Given the description of an element on the screen output the (x, y) to click on. 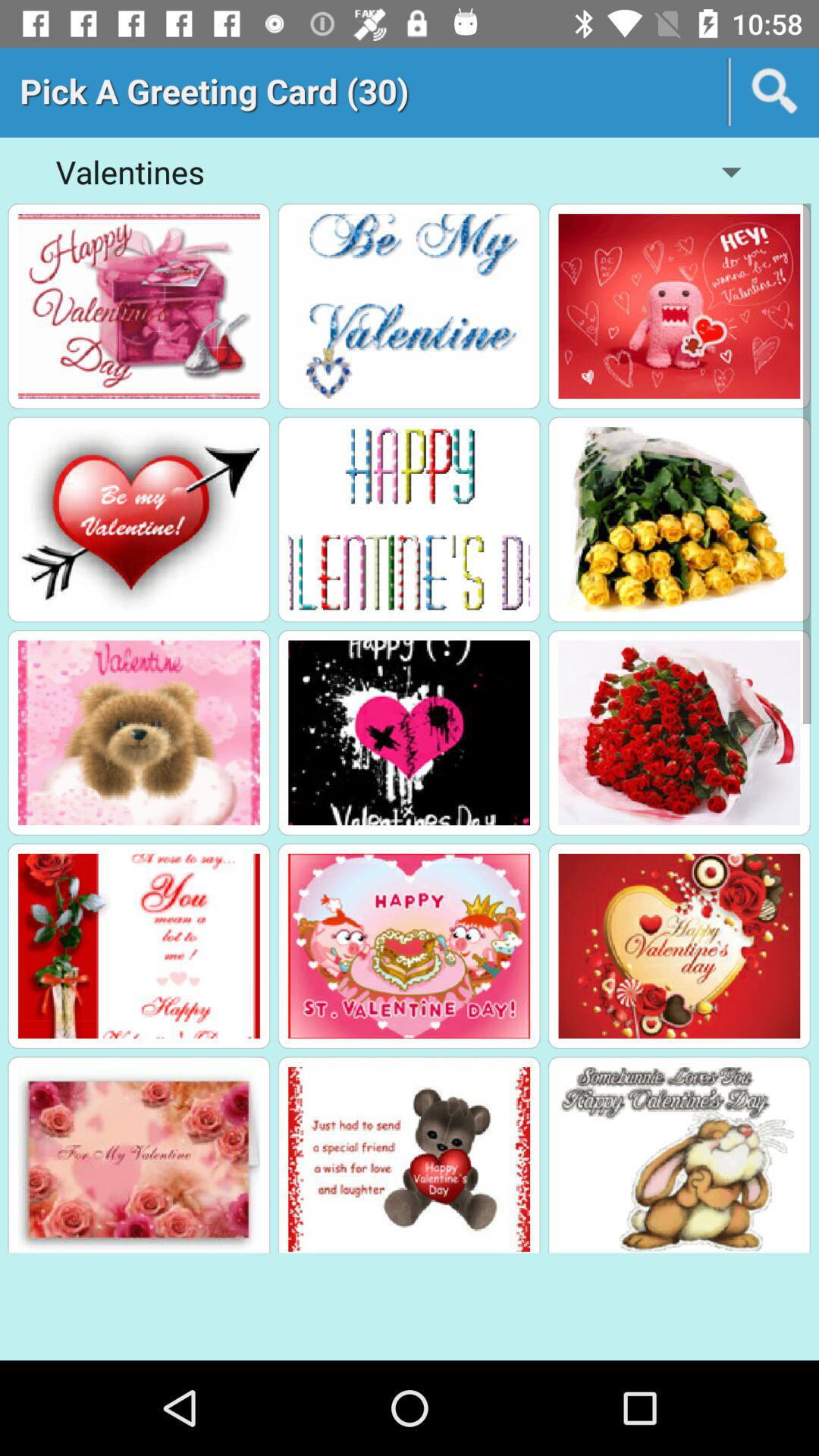
select greeting card (679, 305)
